Given the description of an element on the screen output the (x, y) to click on. 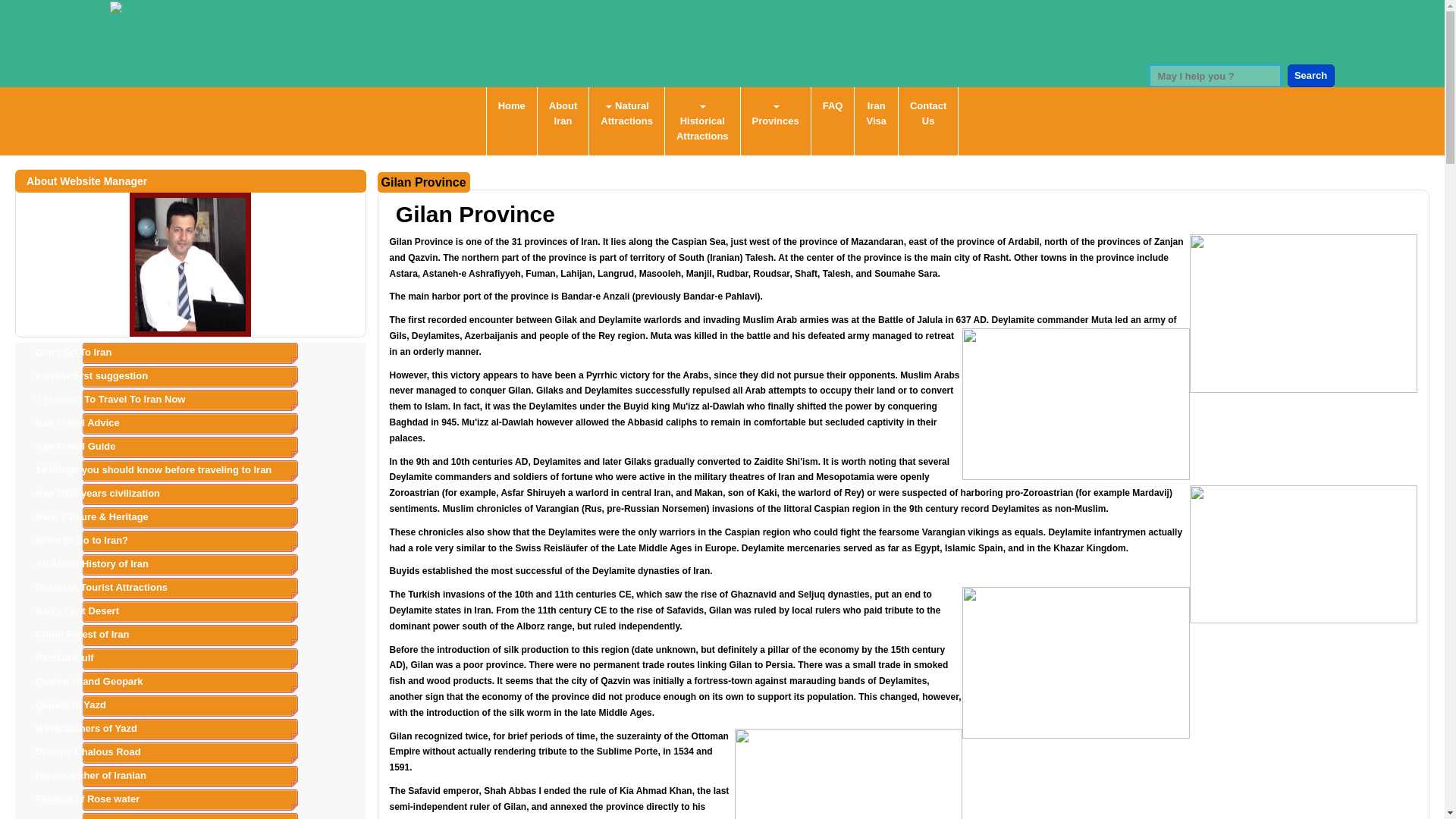
Search (1311, 75)
Provinces (775, 113)
Search (1311, 75)
Search (1311, 75)
Home (511, 105)
About Iran (563, 113)
Natural Attractions (626, 113)
Historical Attractions (702, 120)
